Given the description of an element on the screen output the (x, y) to click on. 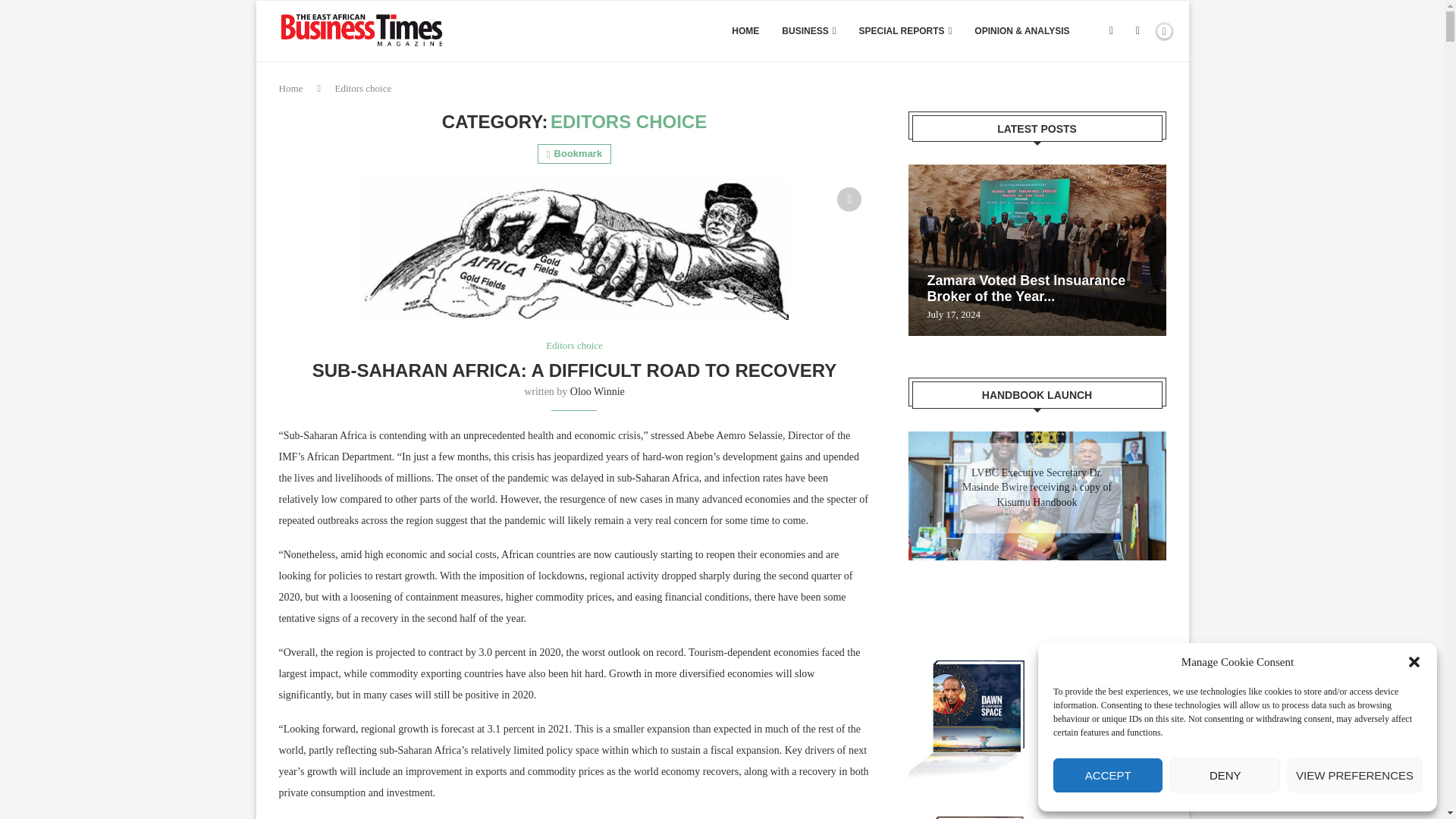
ACCEPT (1106, 775)
Bookmark (848, 199)
VIEW PREFERENCES (1354, 775)
DENY (1224, 775)
SPECIAL REPORTS (905, 30)
scramble for Africa (574, 249)
Bookmark (574, 153)
Home (290, 88)
